Given the description of an element on the screen output the (x, y) to click on. 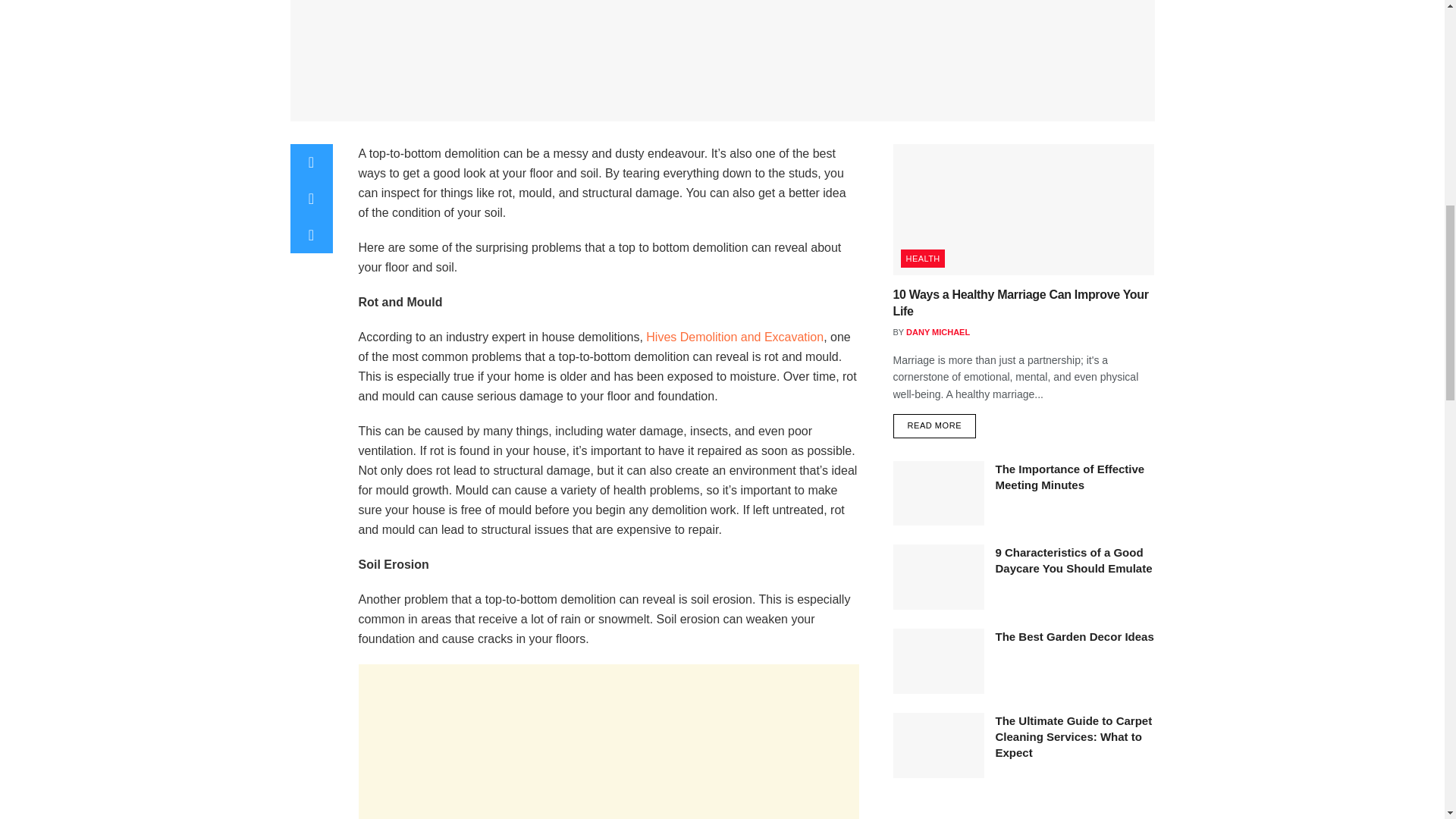
Advertisement (608, 741)
